Given the description of an element on the screen output the (x, y) to click on. 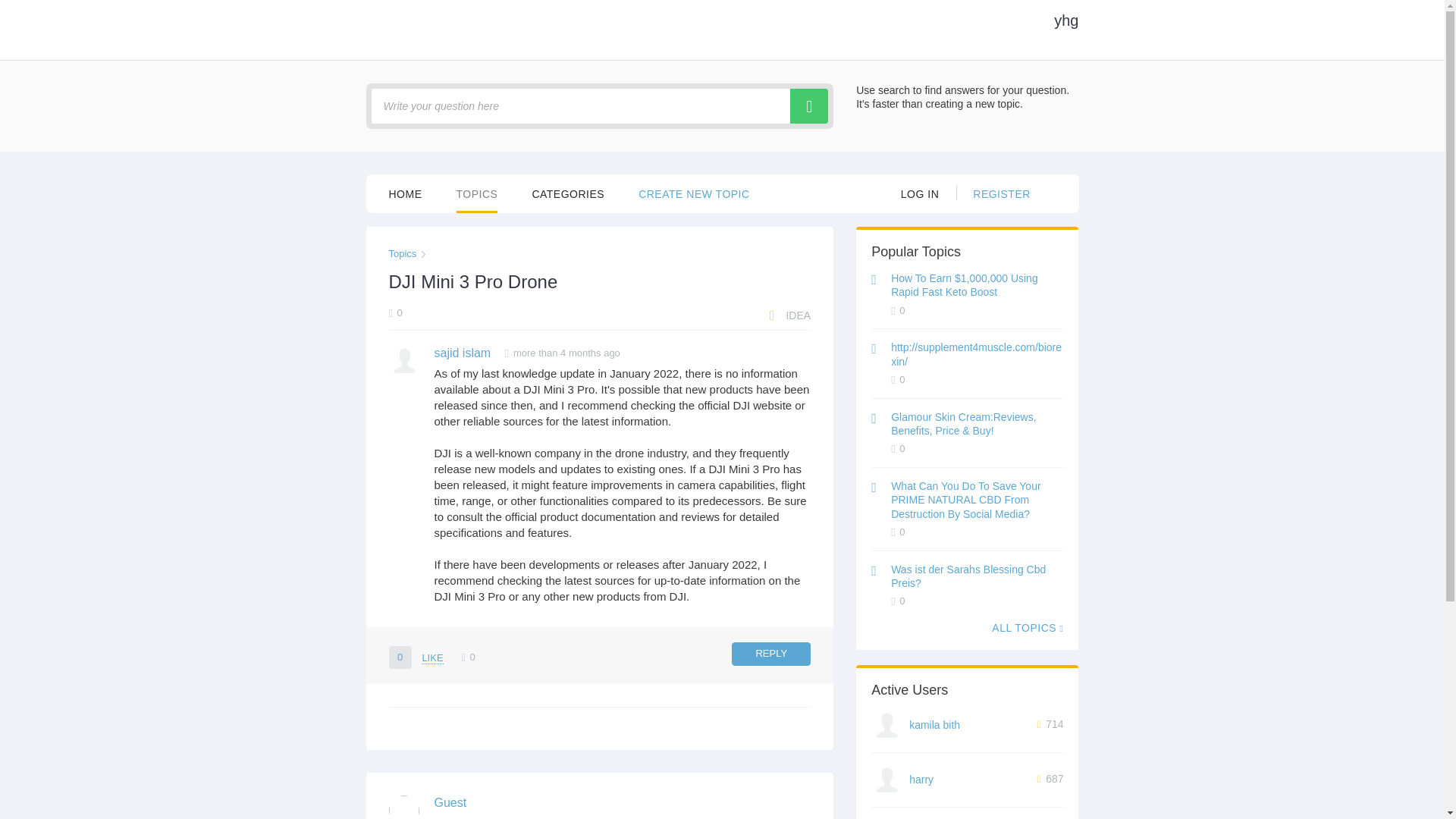
sajid islam (461, 352)
Was ist der Sarahs Blessing Cbd Preis? (968, 575)
REGISTER (1001, 192)
LOG IN (920, 192)
harry (920, 779)
CREATE NEW TOPIC (694, 192)
CATEGORIES (567, 192)
TOPICS (477, 193)
REPLY (771, 653)
